Given the description of an element on the screen output the (x, y) to click on. 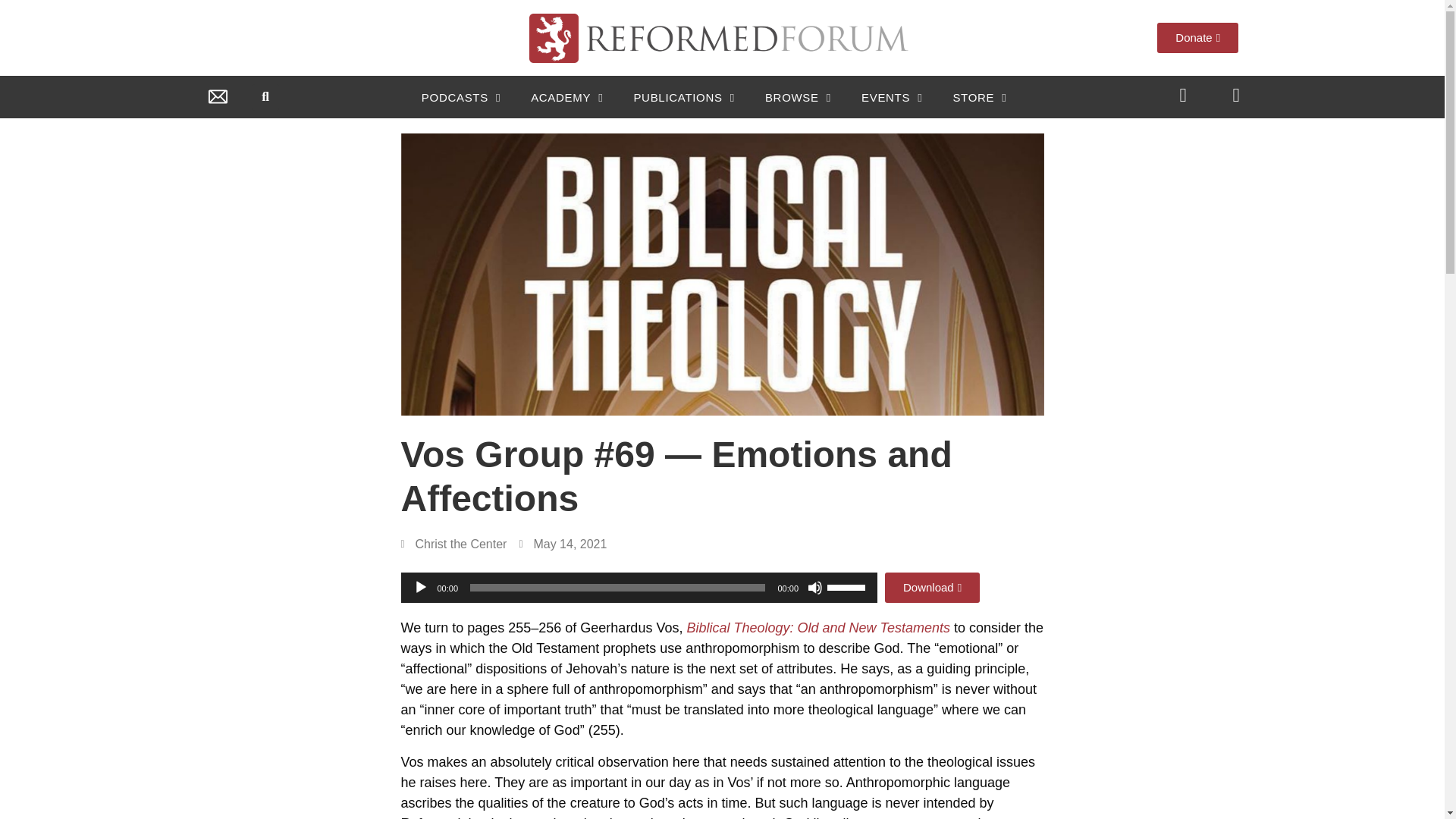
PUBLICATIONS (683, 97)
Play (420, 587)
ACADEMY (566, 97)
PODCASTS (461, 97)
Donate (1198, 37)
Mute (815, 587)
Reformed Academy (566, 97)
